Given the description of an element on the screen output the (x, y) to click on. 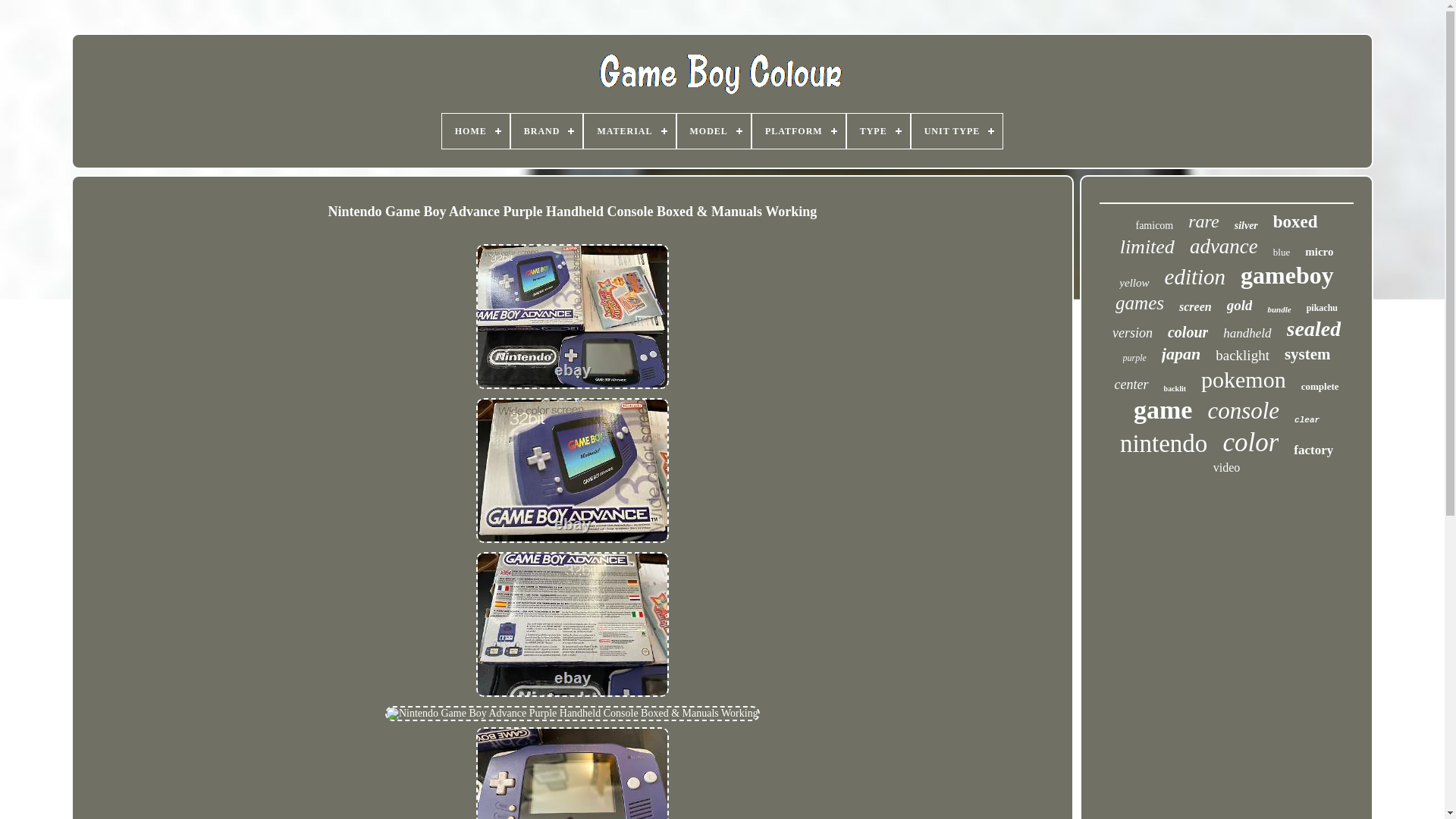
HOME (475, 130)
MATERIAL (629, 130)
MODEL (714, 130)
BRAND (547, 130)
